Given the description of an element on the screen output the (x, y) to click on. 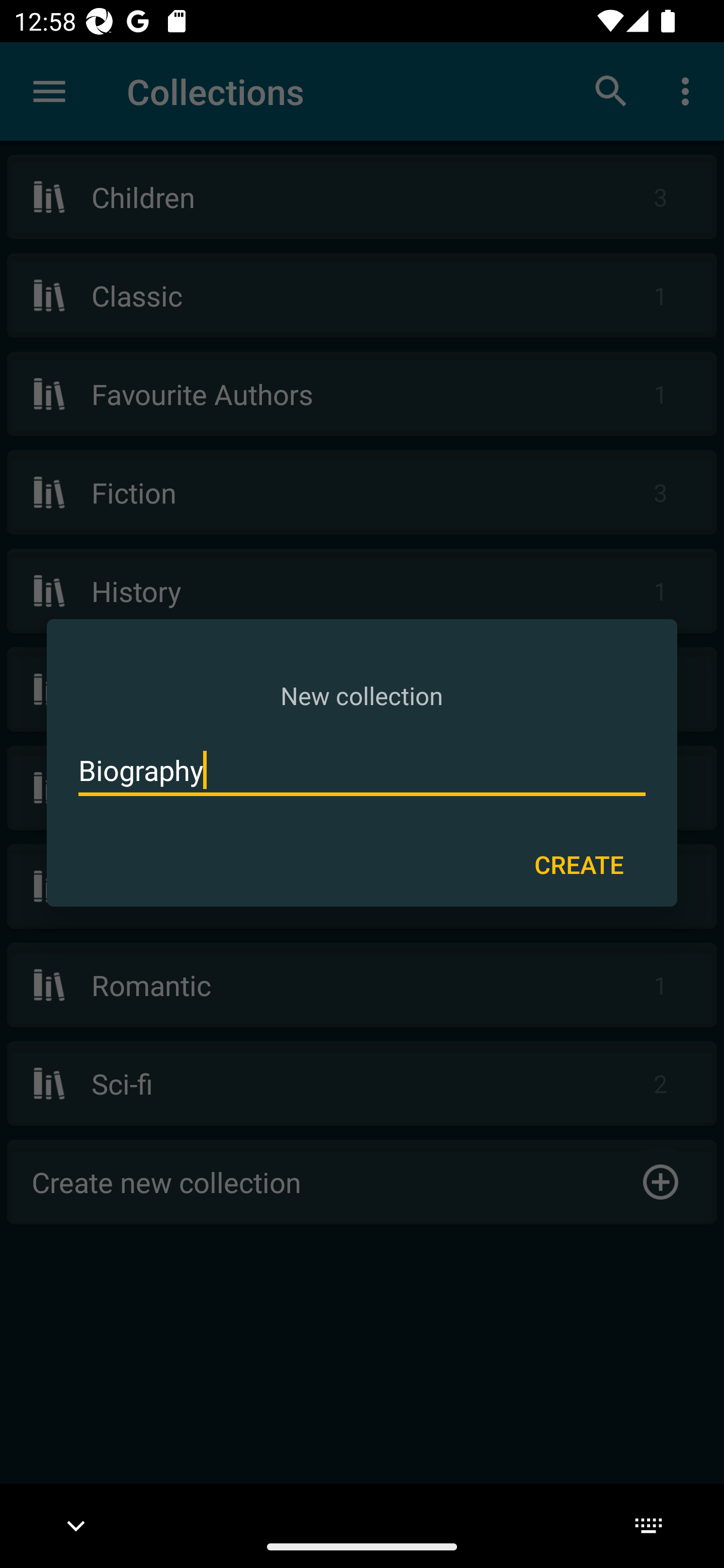
Biography (361, 770)
CREATE (578, 863)
